Given the description of an element on the screen output the (x, y) to click on. 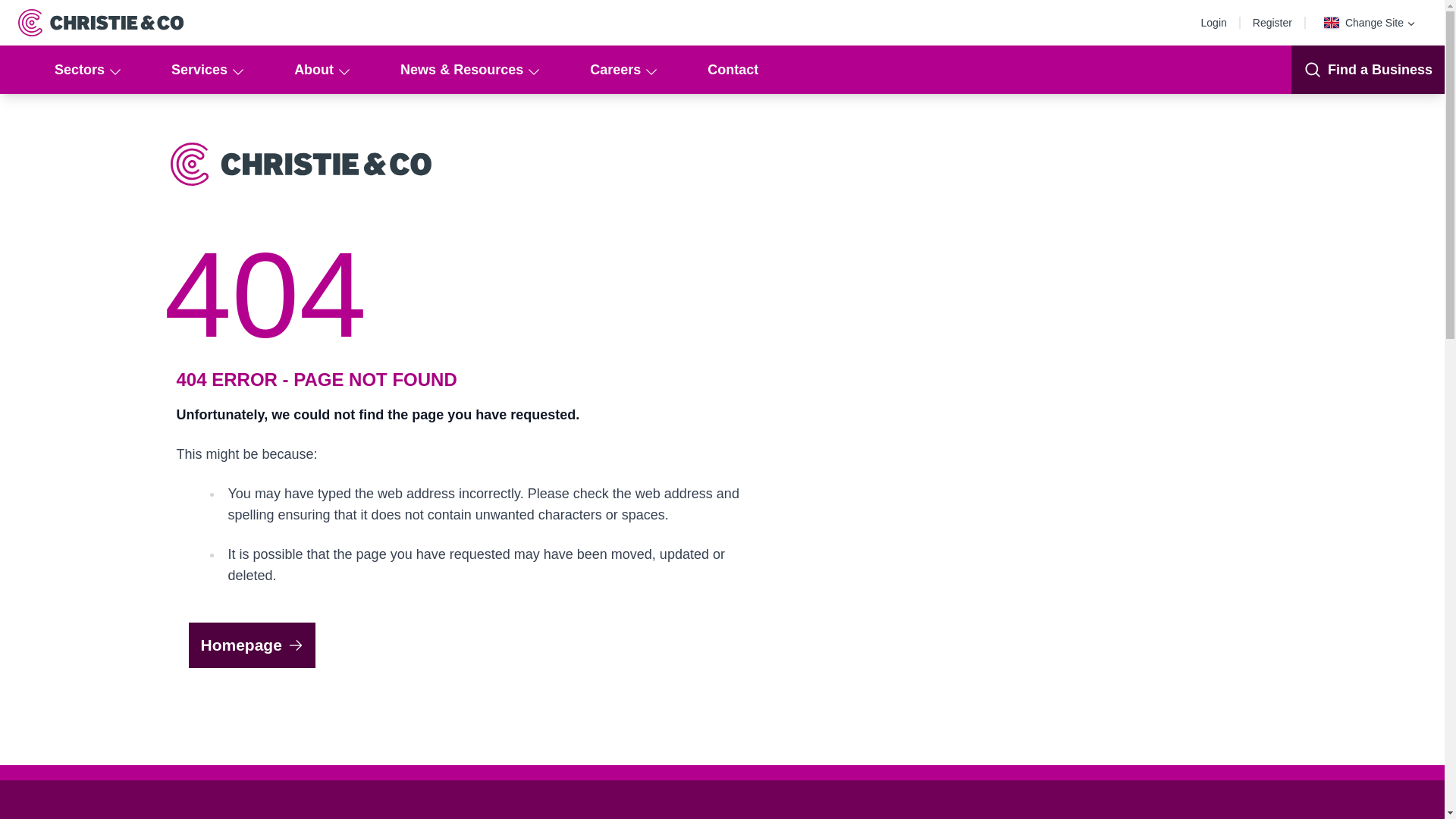
Register (1276, 22)
About (320, 69)
Homepage (250, 645)
Contact (732, 70)
Login (1217, 22)
Sectors (85, 69)
Change Site (1369, 22)
Careers (621, 69)
Services (204, 69)
